Given the description of an element on the screen output the (x, y) to click on. 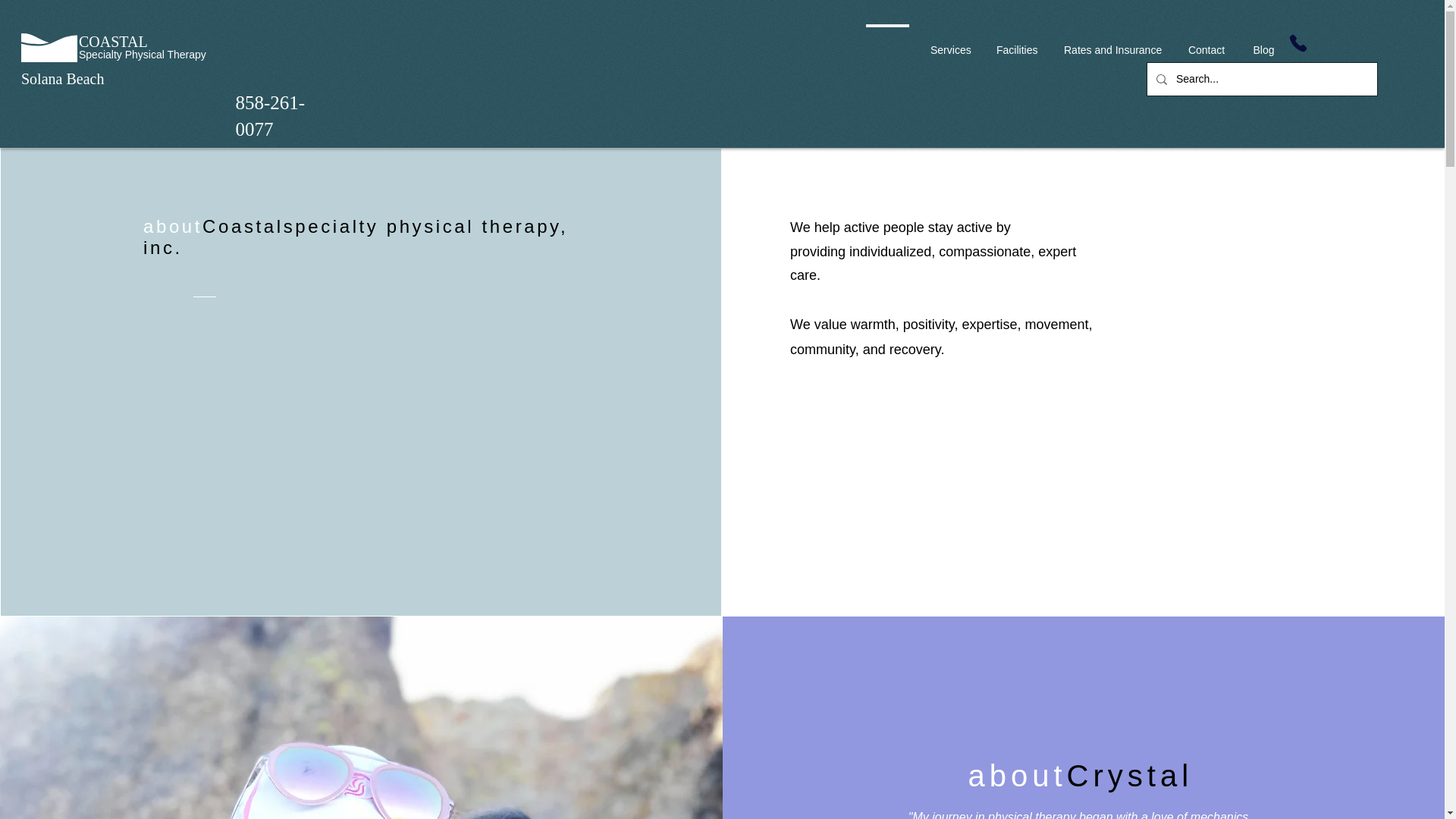
858-261-0077 (269, 115)
Rates and Insurance (1111, 43)
Blog (1263, 43)
Contact (1206, 43)
About (888, 43)
Specialty Physical Therapy (142, 54)
Services (949, 43)
COASTAL (113, 41)
Facilities (1015, 43)
